Given the description of an element on the screen output the (x, y) to click on. 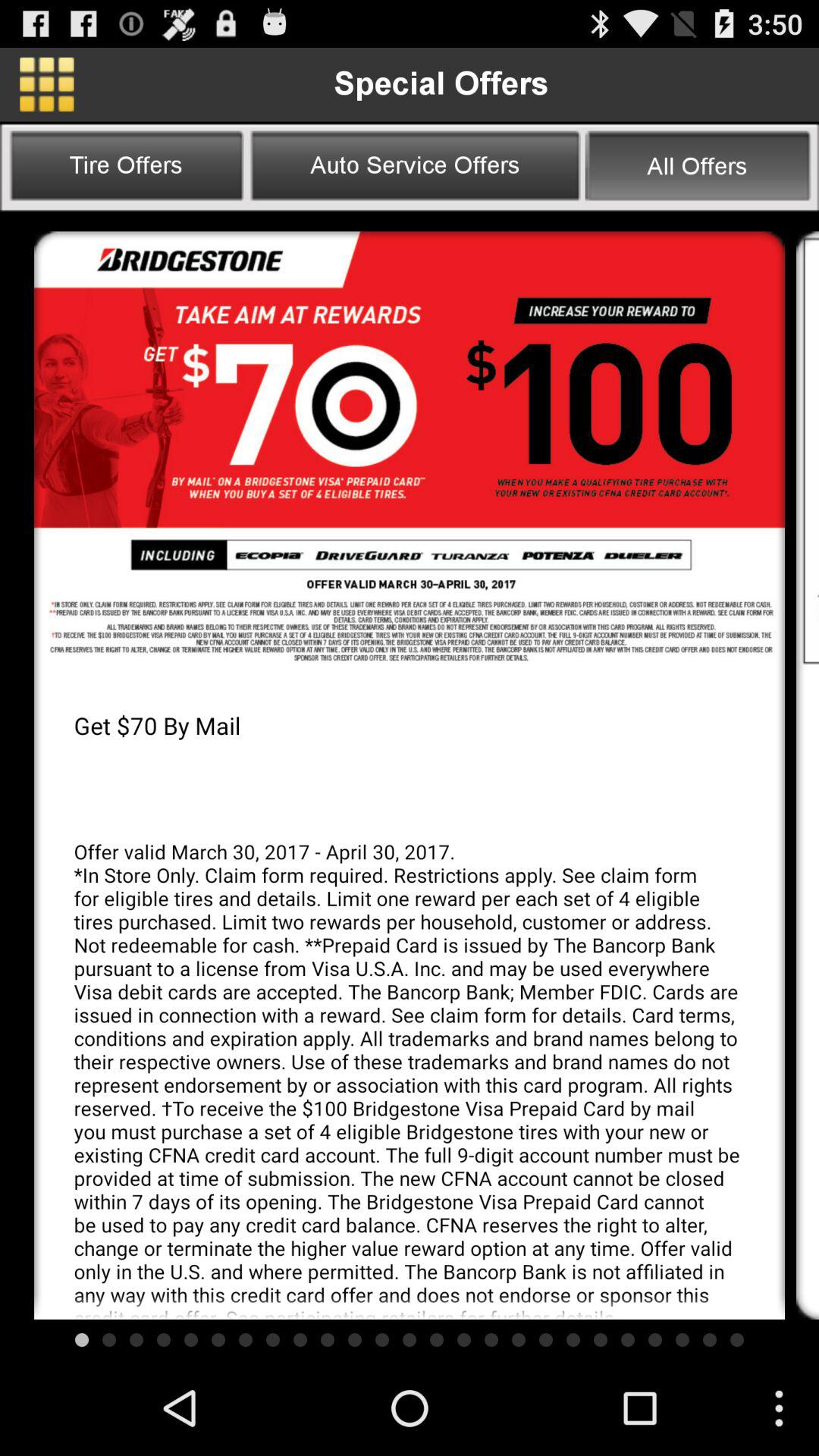
main menu (46, 84)
